Given the description of an element on the screen output the (x, y) to click on. 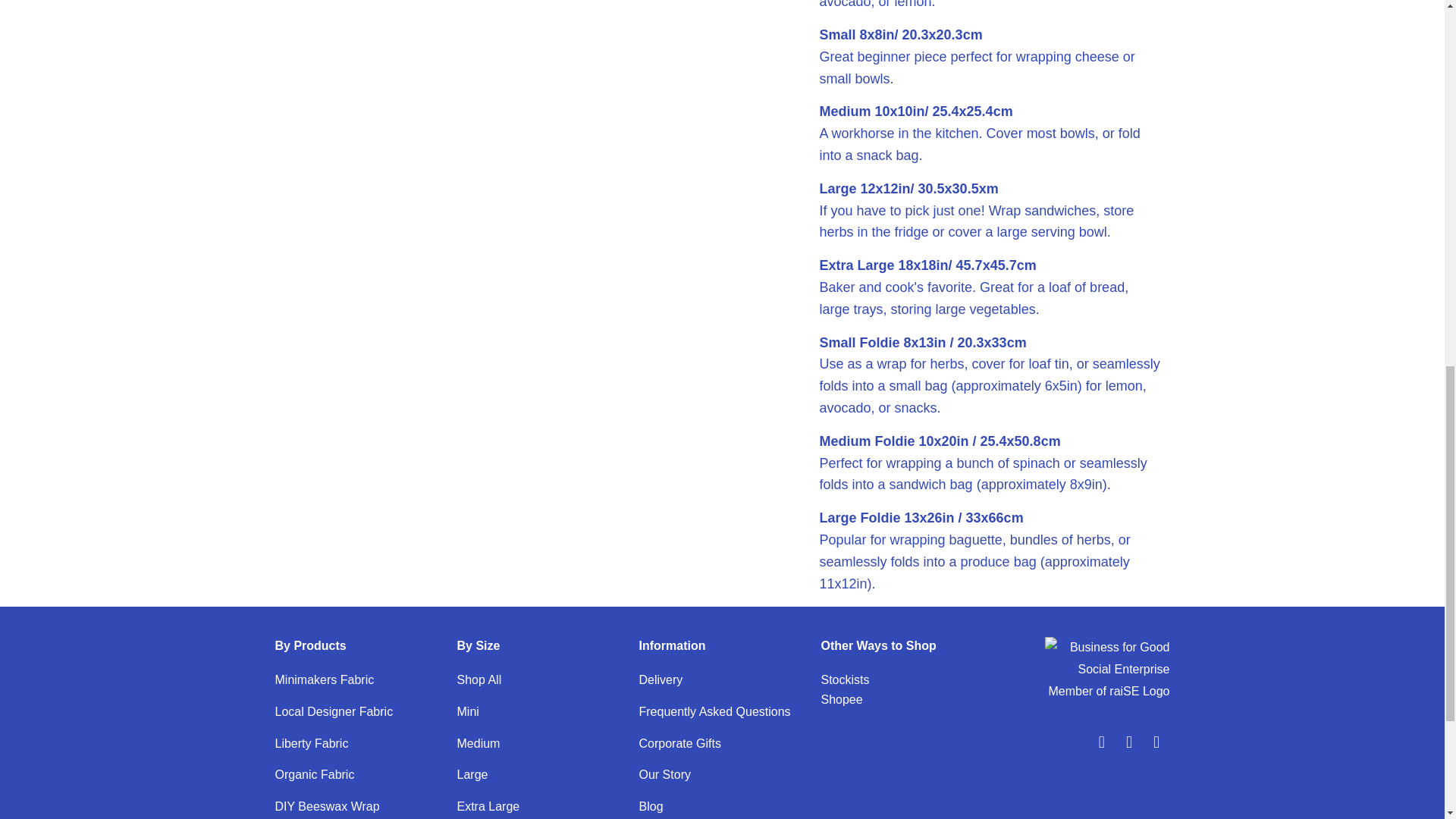
Partnerships (845, 679)
